Given the description of an element on the screen output the (x, y) to click on. 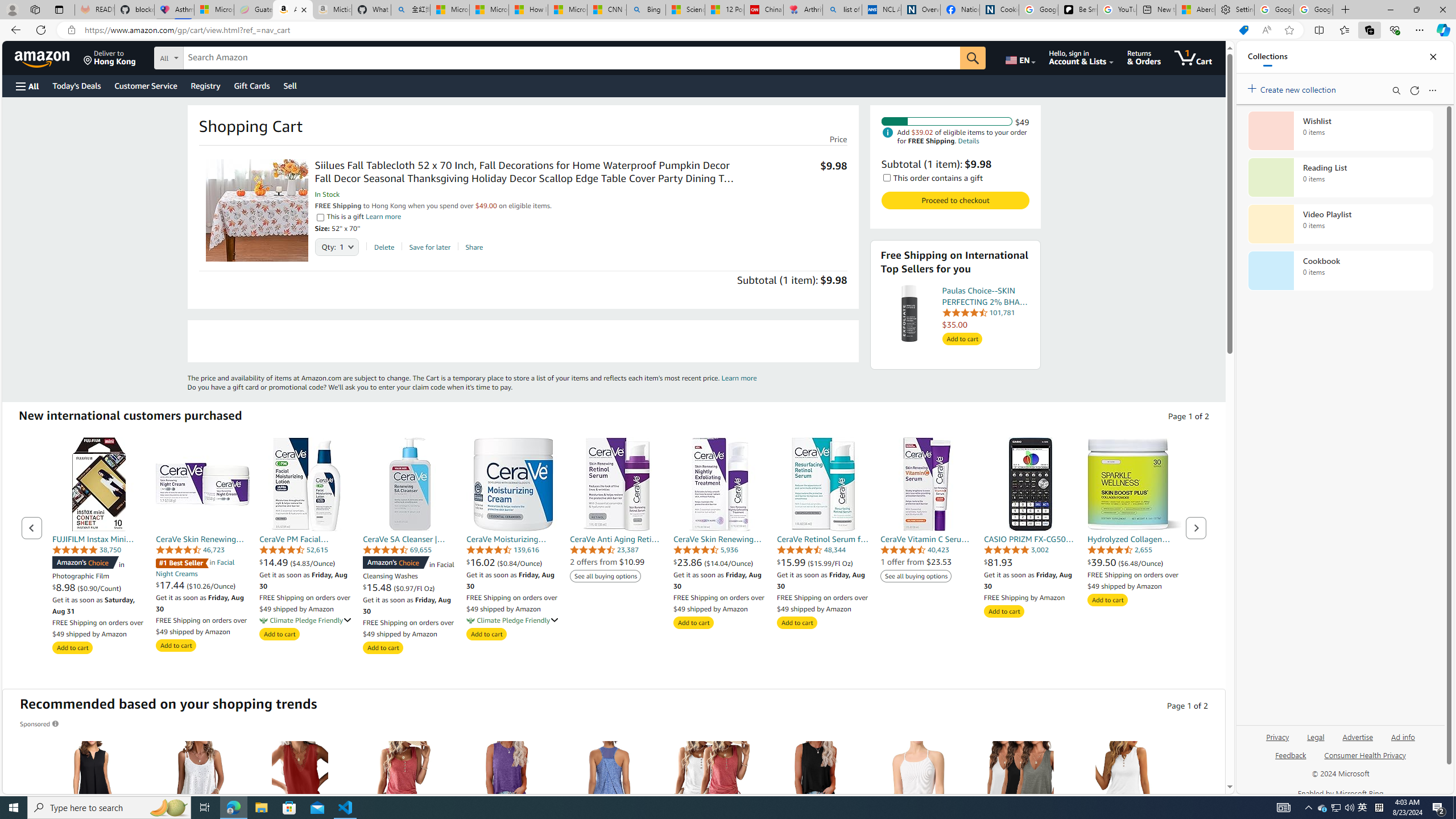
Wishlist collection, 0 items (1339, 130)
Amazon (43, 57)
1 item in cart (1193, 57)
($0.90/Count) (98, 587)
Class: a-link-normal a-text-normal (1133, 562)
